Given the description of an element on the screen output the (x, y) to click on. 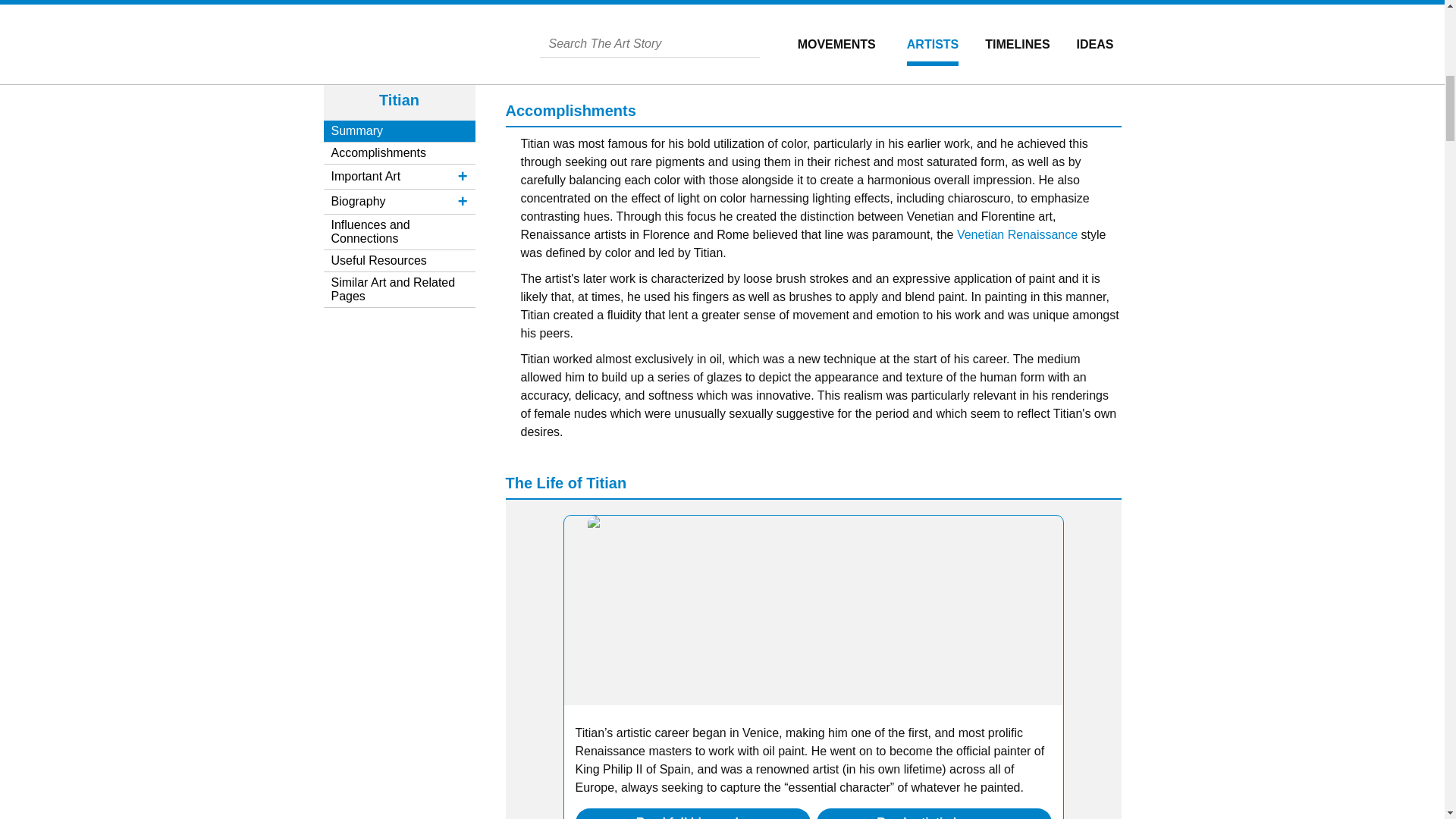
Read full biography (692, 817)
Venetian Renaissance (1016, 234)
Baroque art (588, 59)
Read artistic legacy (933, 817)
